Given the description of an element on the screen output the (x, y) to click on. 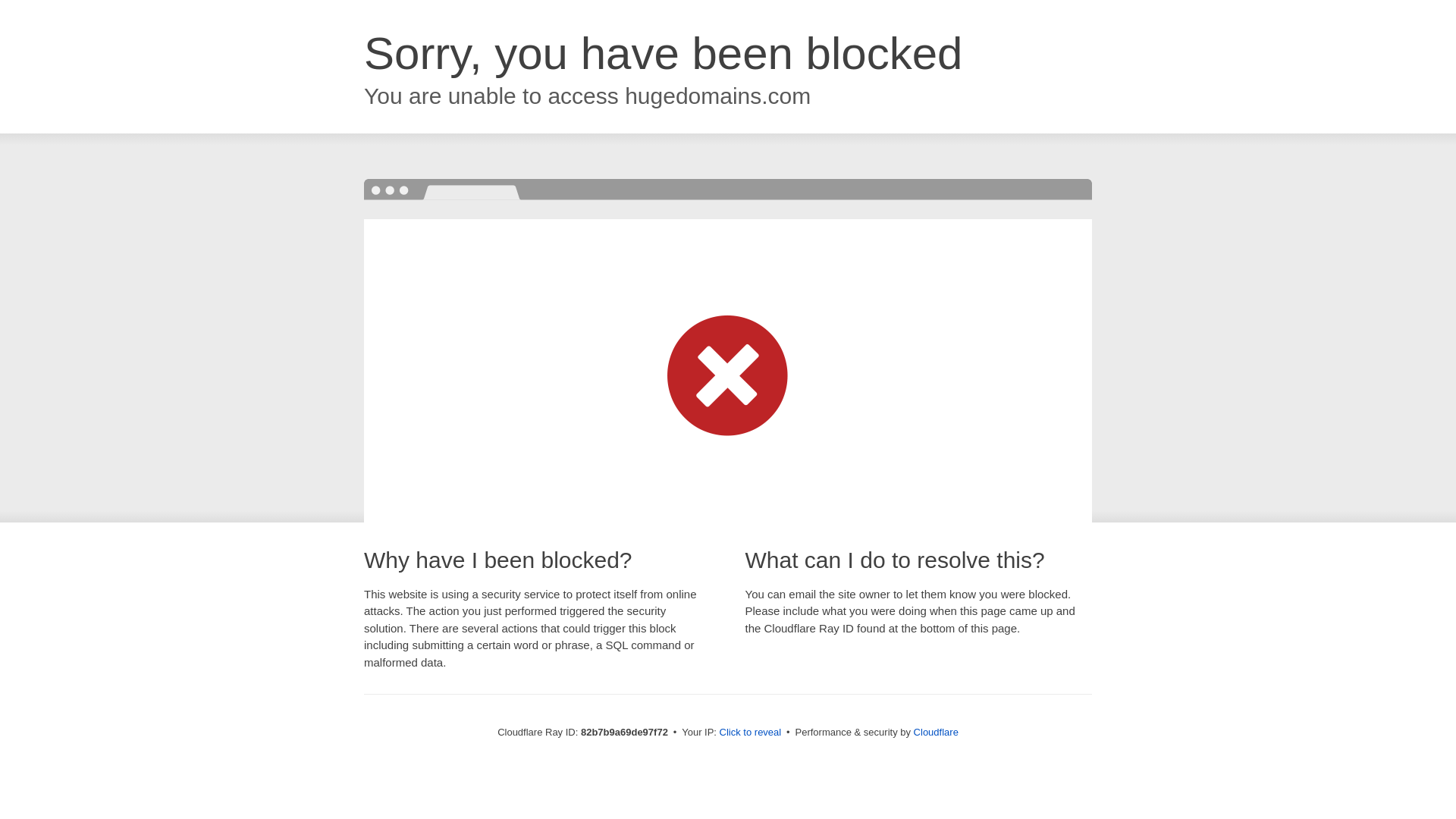
Cloudflare Element type: text (935, 731)
Click to reveal Element type: text (750, 732)
